Given the description of an element on the screen output the (x, y) to click on. 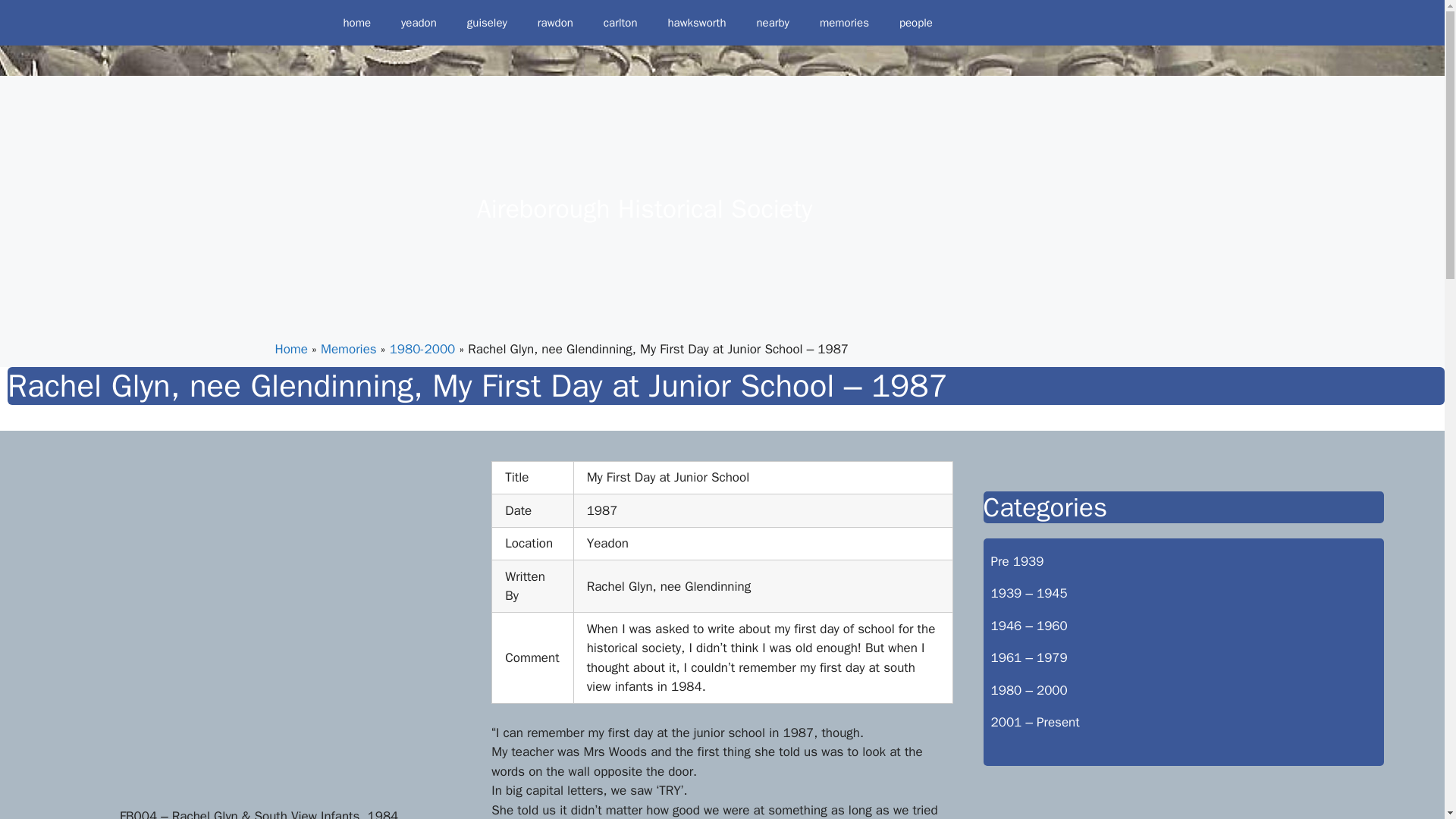
hawksworth (696, 22)
home (356, 22)
carlton (620, 22)
Home (291, 349)
yeadon (418, 22)
nearby (772, 22)
people (915, 22)
Memories (348, 349)
memories (844, 22)
